Given the description of an element on the screen output the (x, y) to click on. 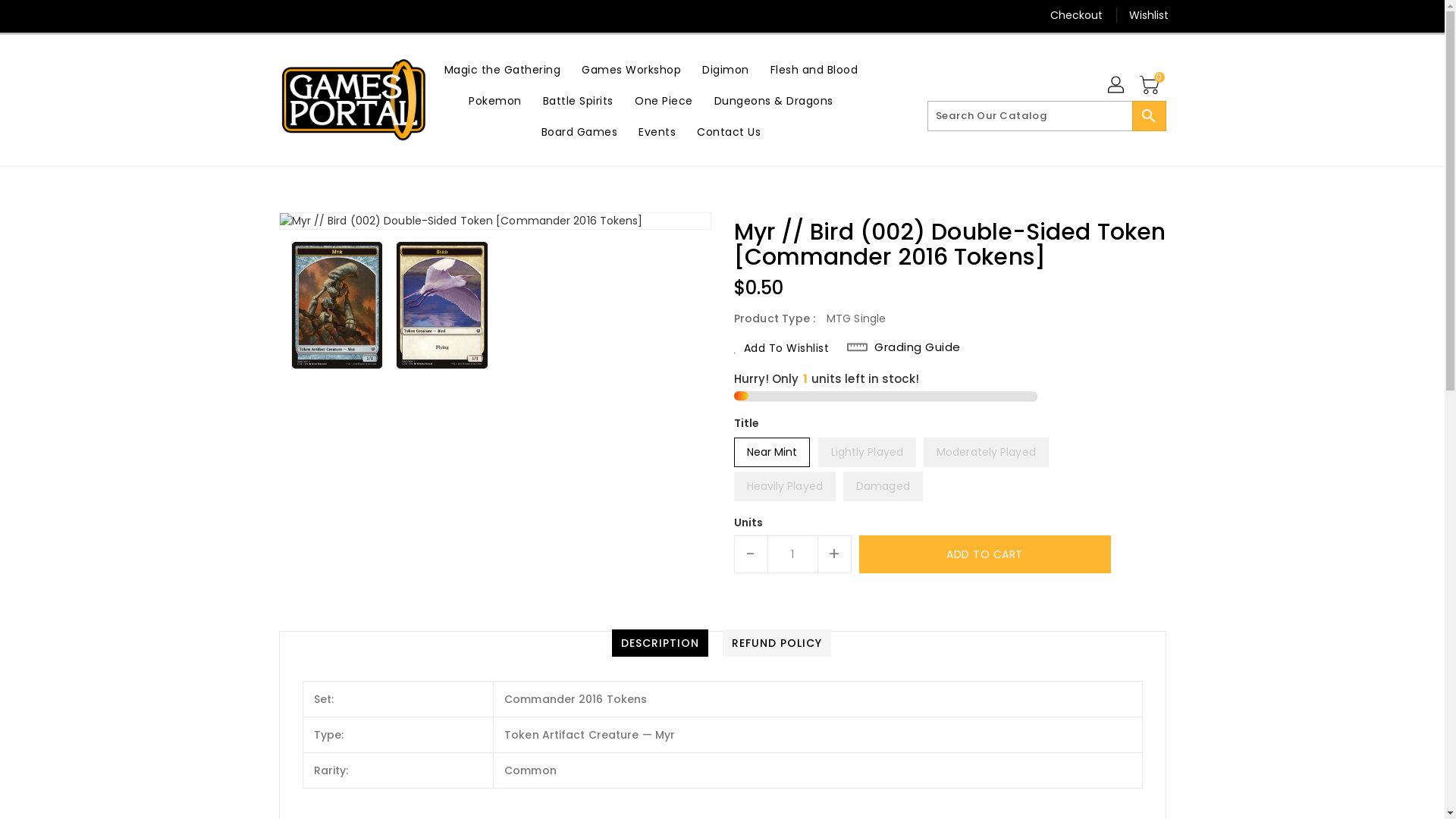
search Element type: text (1148, 115)
REFUND POLICY Element type: text (776, 642)
Events Element type: text (656, 131)
Board Games Element type: text (579, 131)
Games Portal on Facebook Element type: hover (256, 14)
One Piece Element type: text (663, 100)
Battle Spirits Element type: text (577, 100)
Flesh and Blood Element type: text (814, 68)
Games Workshop Element type: text (631, 68)
Dungeons & Dragons Element type: text (773, 100)
Add To Wishlist Element type: text (781, 347)
Digimon Element type: text (725, 68)
DESCRIPTION Element type: text (659, 642)
Games Portal on Discord Element type: hover (315, 14)
Contact Us Element type: text (728, 131)
Games Portal on Twitter Element type: hover (286, 14)
Wishlist Element type: text (1143, 15)
Checkout Element type: text (1076, 15)
Grading Guide Element type: text (903, 347)
Pokemon Element type: text (494, 100)
ADD TO CART Element type: text (984, 554)
Magic the Gathering Element type: text (502, 68)
